Given the description of an element on the screen output the (x, y) to click on. 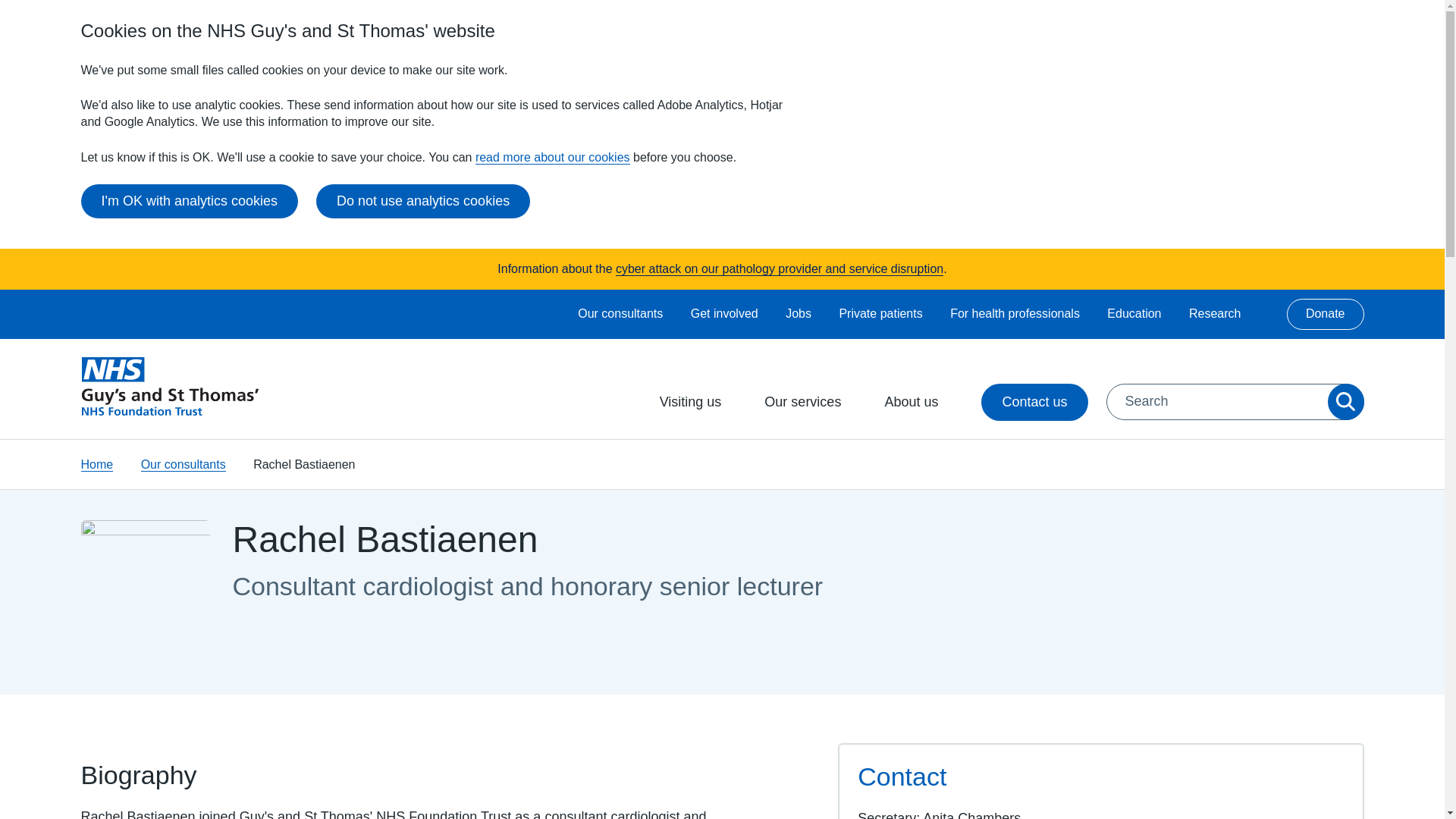
Get involved (724, 314)
Private patients (879, 314)
read more about cookies (553, 157)
Our services (812, 401)
Education (1133, 314)
Do not use analytics cookies (422, 201)
Research (1214, 314)
For health professionals (1015, 314)
Donate (1325, 313)
I'm OK with analytics cookies (189, 201)
Jobs (798, 314)
Visiting us (700, 401)
Our consultants (620, 314)
read more about our cookies (553, 157)
